Given the description of an element on the screen output the (x, y) to click on. 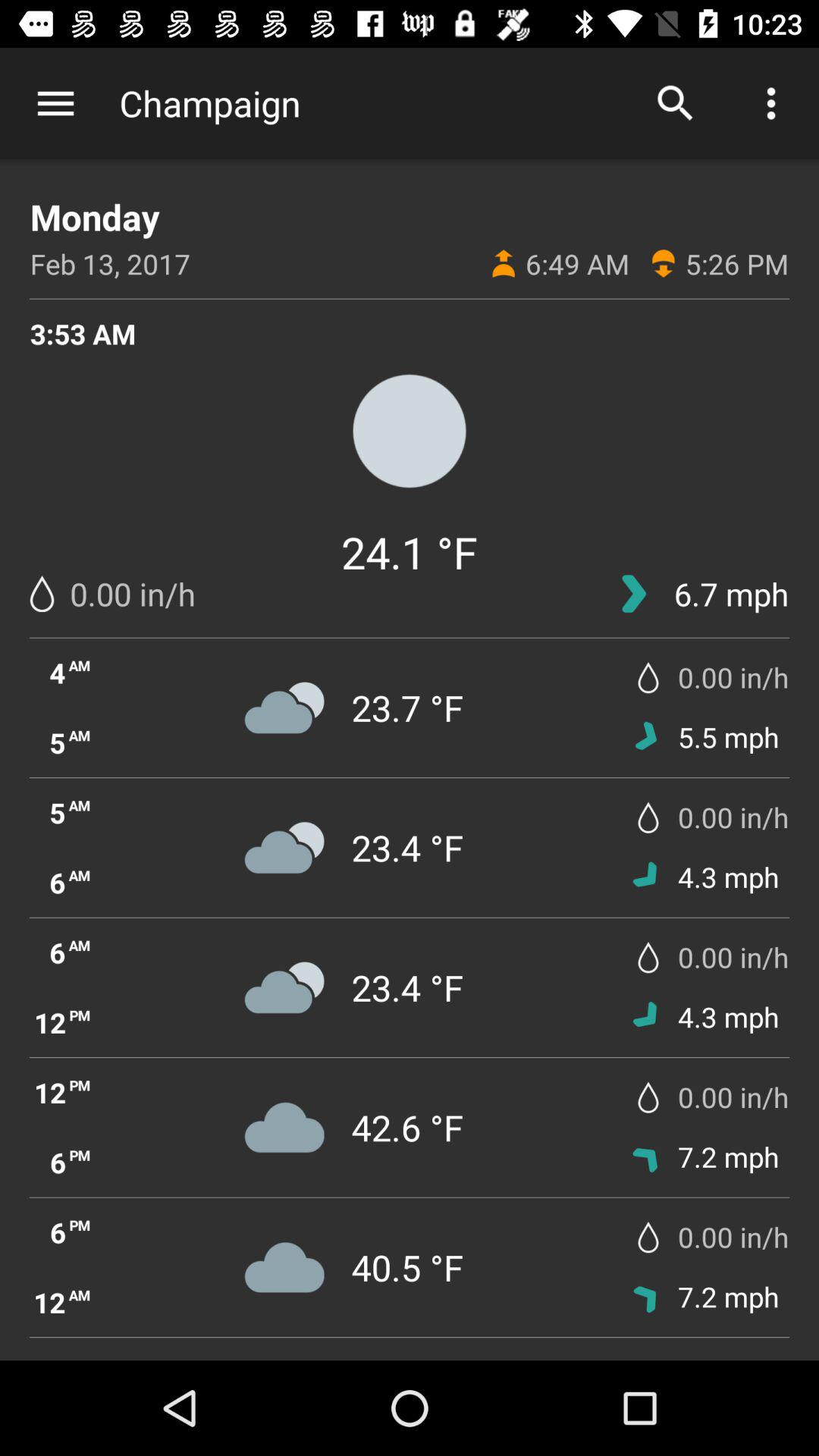
press the item to the left of champaign icon (55, 103)
